Given the description of an element on the screen output the (x, y) to click on. 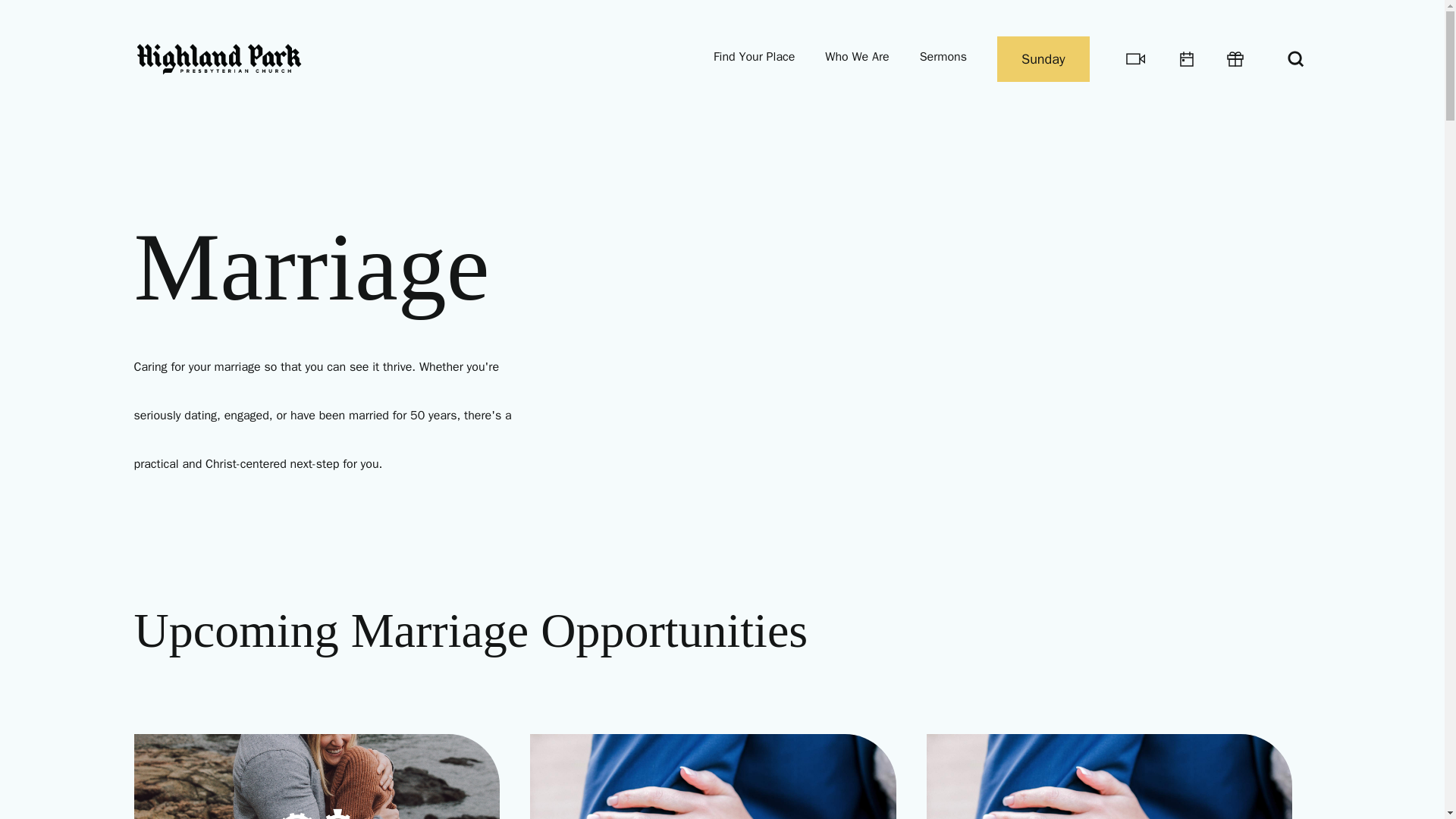
Sermons (943, 58)
Who We Are (856, 58)
Find Your Place (753, 58)
Give (1234, 59)
Events (1185, 59)
Sunday (1043, 58)
Live (1136, 58)
